Given the description of an element on the screen output the (x, y) to click on. 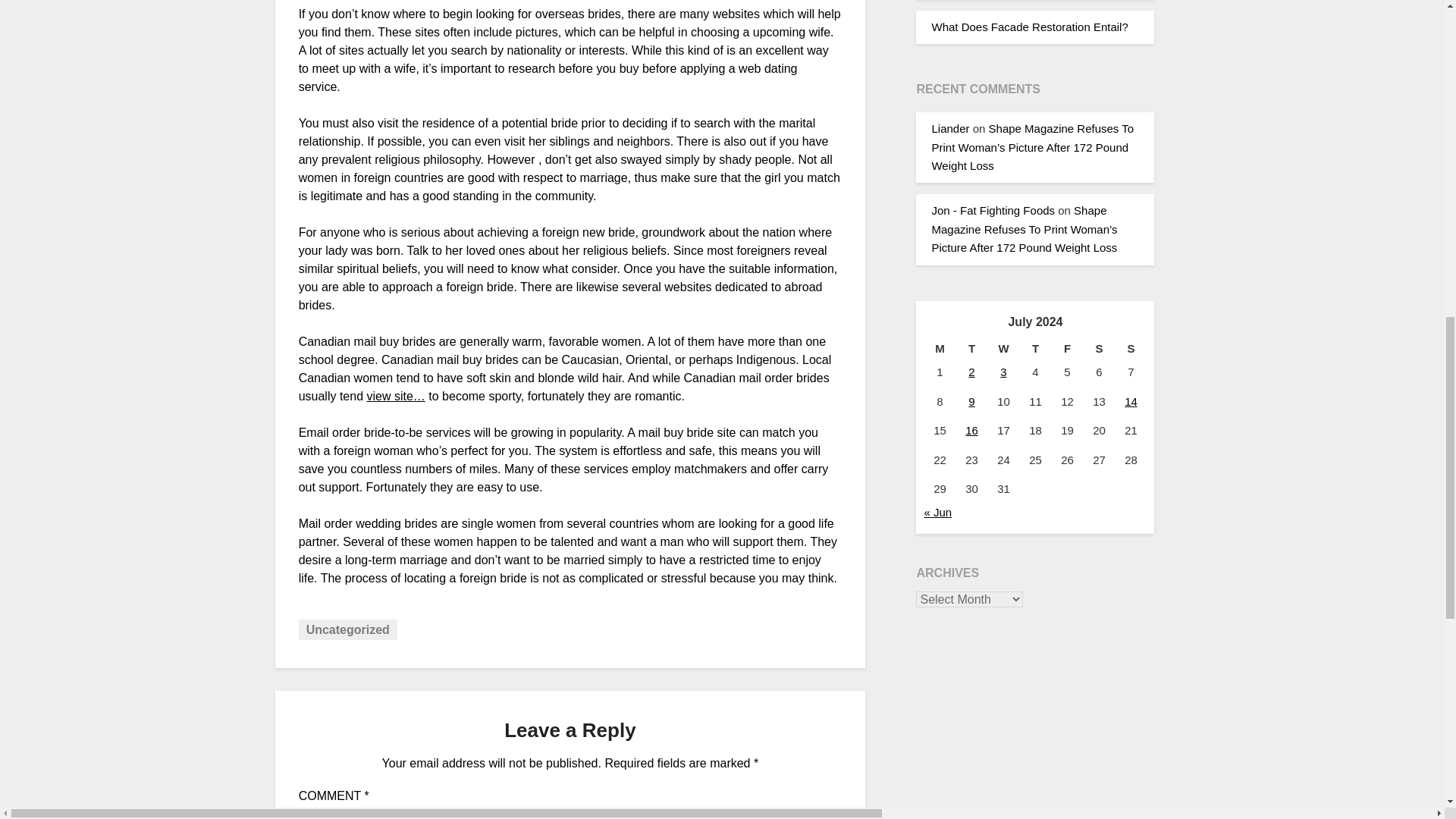
Saturday (1099, 348)
Liander (950, 128)
Wednesday (1003, 348)
Tuesday (971, 348)
Monday (939, 348)
Uncategorized (347, 629)
16 (971, 430)
3 (1003, 371)
Sunday (1131, 348)
9 (971, 400)
2 (971, 371)
Thursday (1035, 348)
Friday (1067, 348)
What Does Facade Restoration Entail? (1028, 26)
14 (1130, 400)
